Given the description of an element on the screen output the (x, y) to click on. 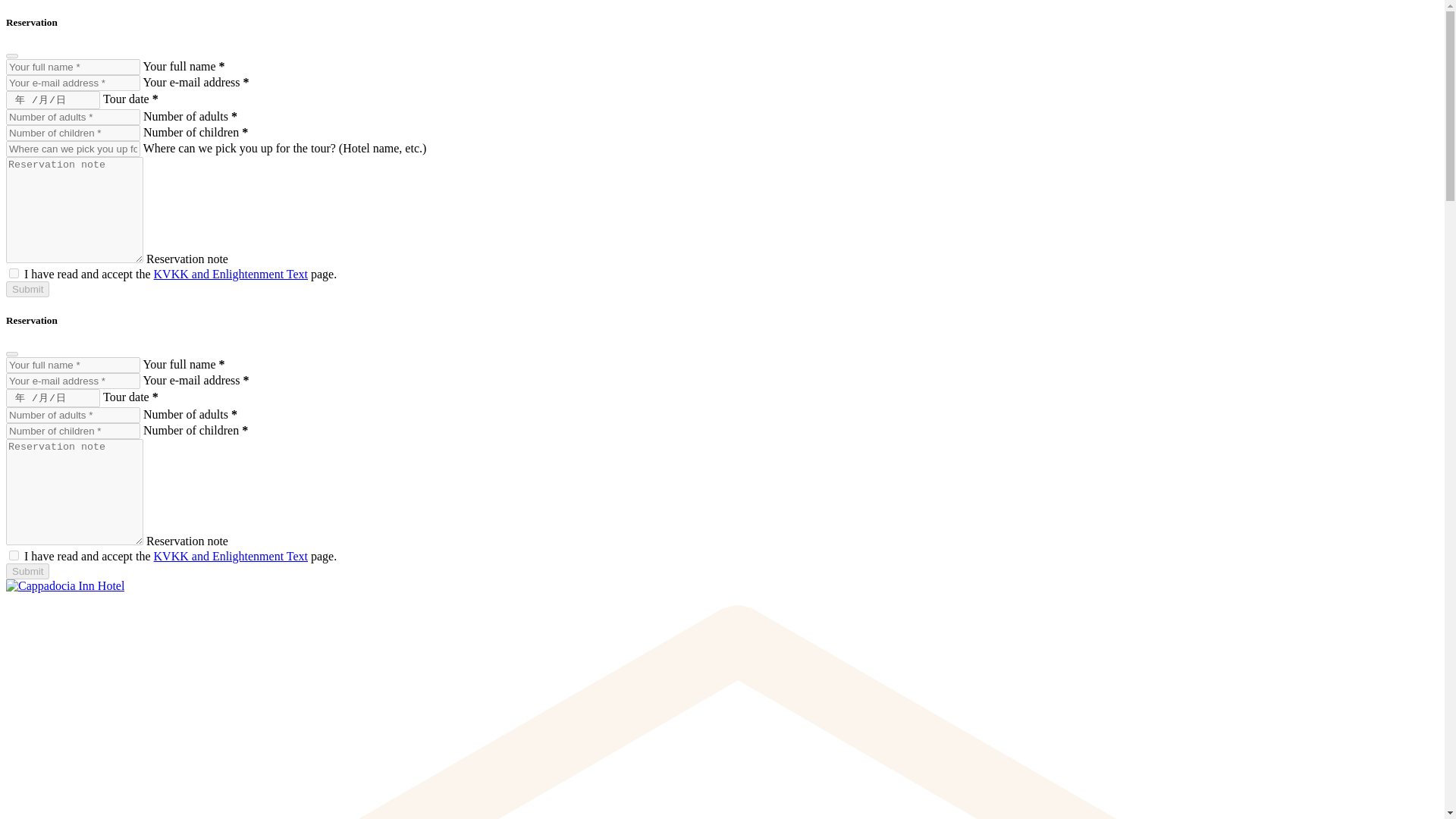
KVKK and Enlightenment Text (230, 555)
1 (13, 273)
1 (13, 555)
Submit (27, 571)
Submit (27, 289)
KVKK and Enlightenment Text (230, 273)
